Given the description of an element on the screen output the (x, y) to click on. 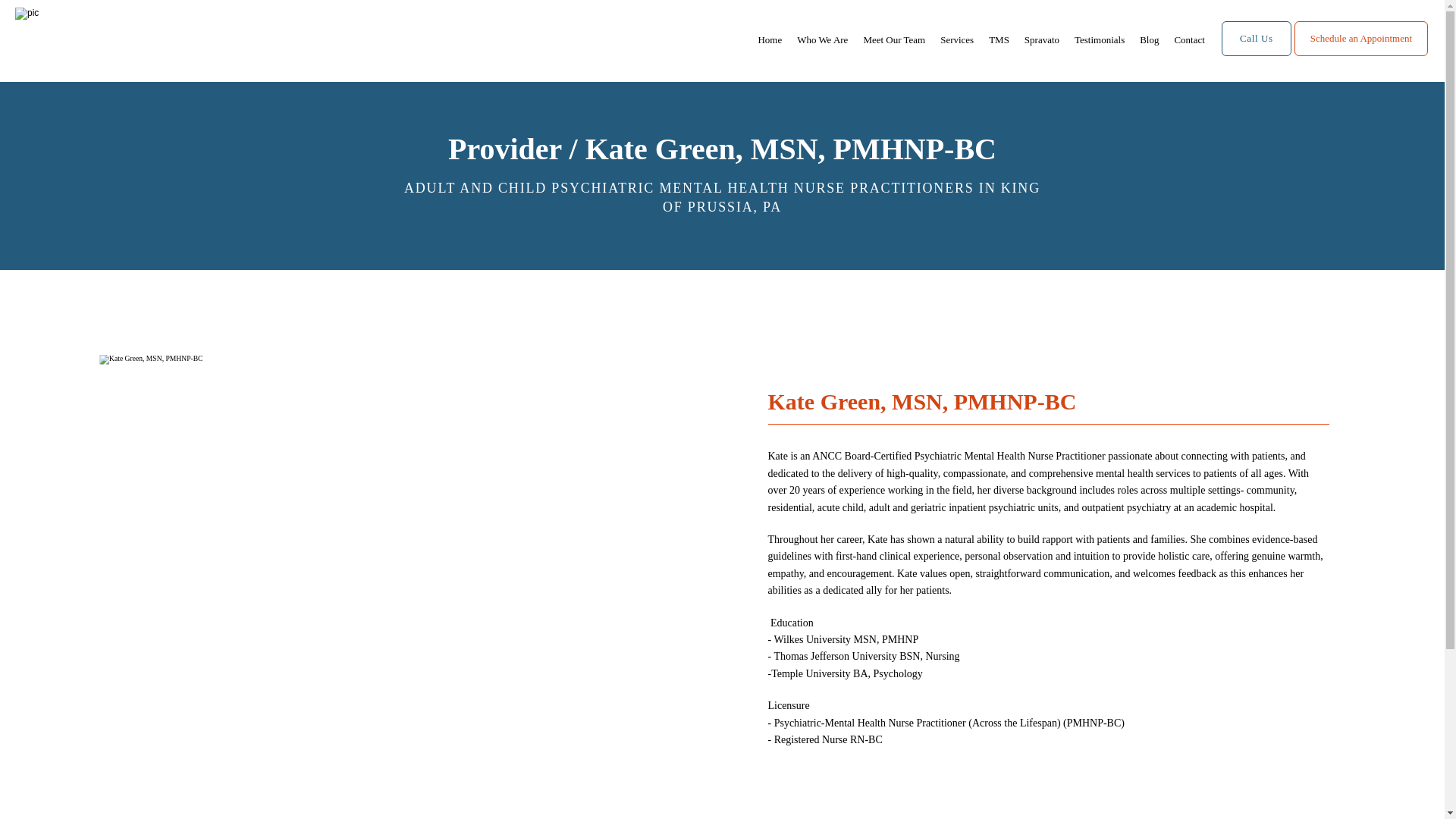
Home (769, 39)
Spravato (1042, 39)
Call Us (1256, 54)
TMS (998, 39)
Who We Are (821, 39)
Services (957, 39)
Blog (1149, 39)
Testimonials (1099, 39)
Schedule an Appointment (1360, 54)
Contact (1188, 39)
